Given the description of an element on the screen output the (x, y) to click on. 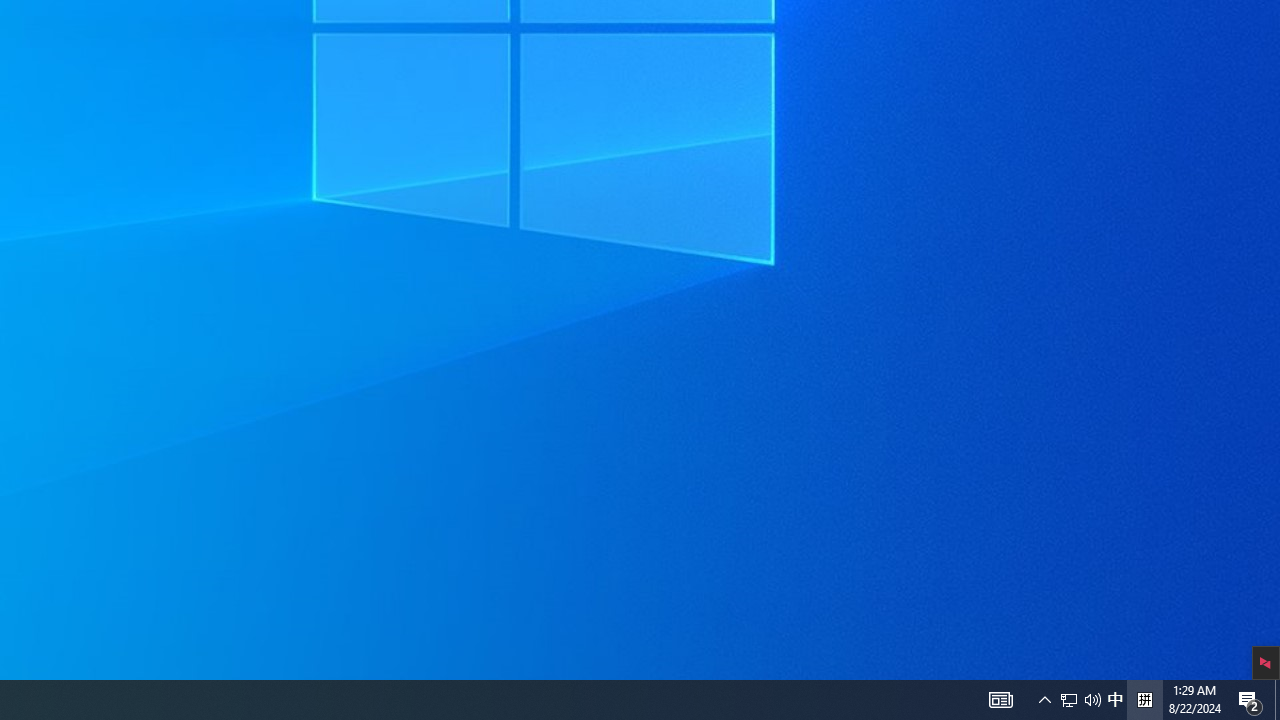
AutomationID: 4105 (1000, 699)
Action Center, 2 new notifications (1069, 699)
Q2790: 100% (1250, 699)
Notification Chevron (1092, 699)
User Promoted Notification Area (1115, 699)
Tray Input Indicator - Chinese (Simplified, China) (1044, 699)
Show desktop (1080, 699)
